Given the description of an element on the screen output the (x, y) to click on. 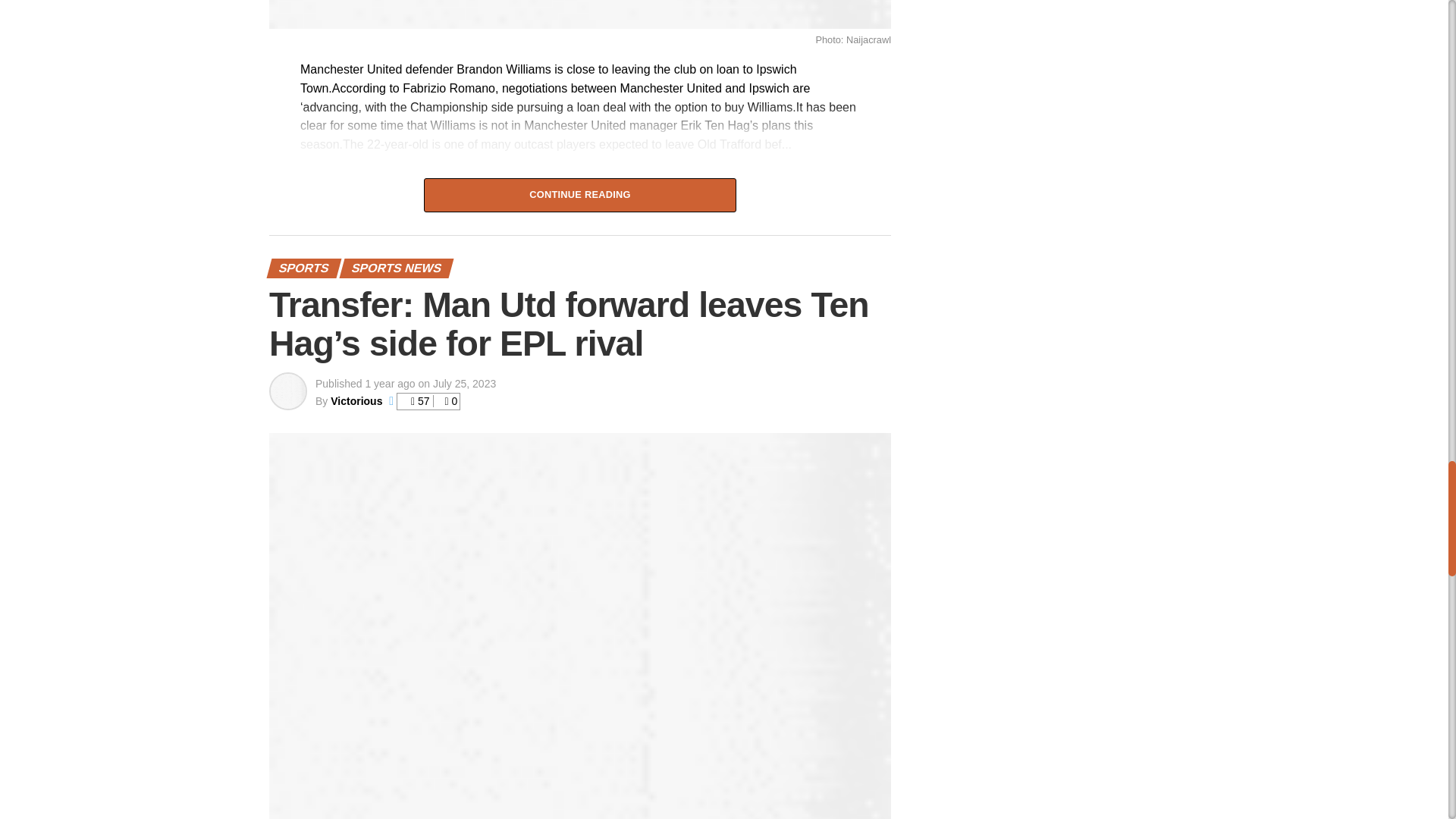
Posts by Victorious (355, 400)
